Given the description of an element on the screen output the (x, y) to click on. 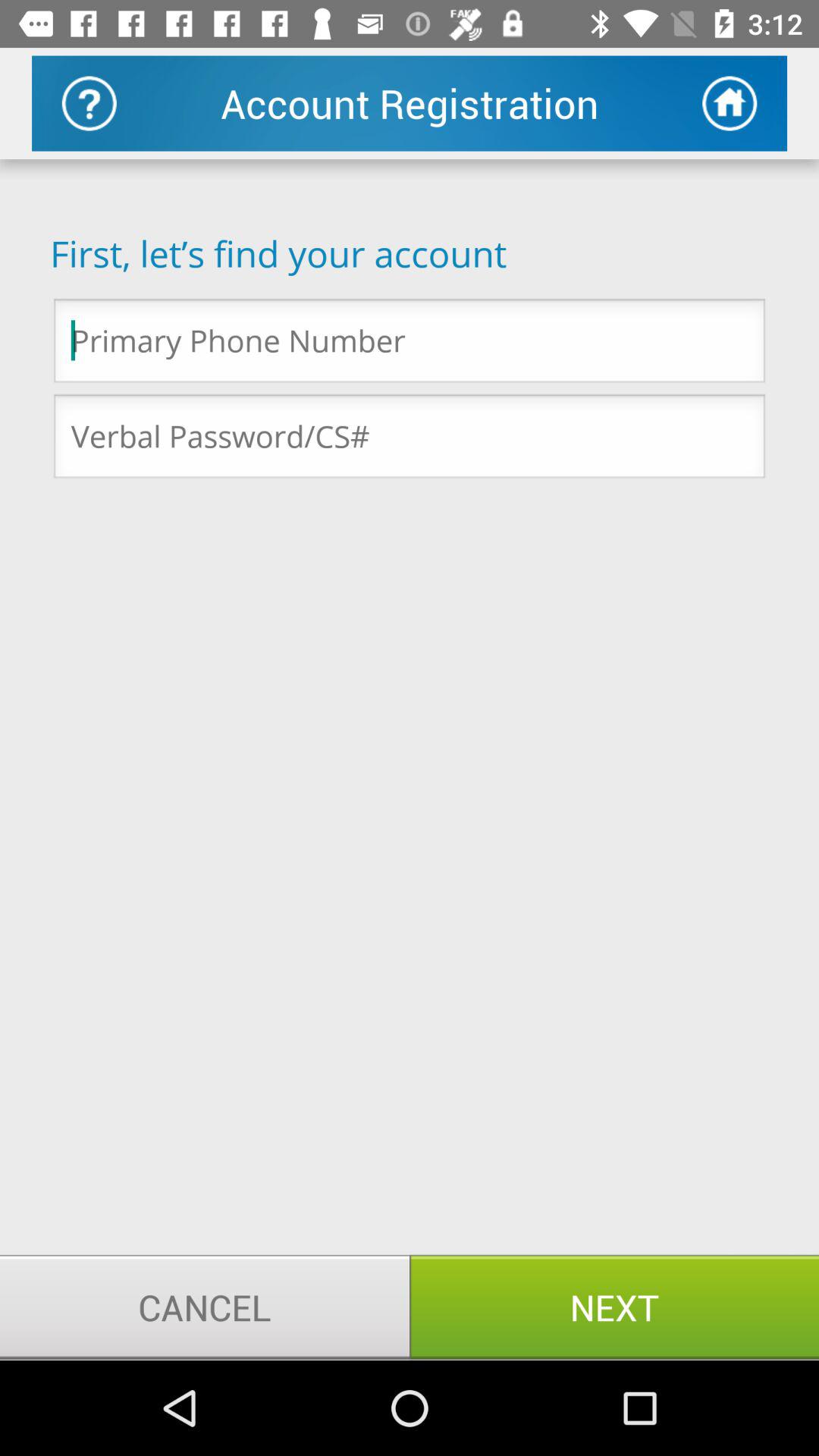
press the icon to the left of next (204, 1307)
